Given the description of an element on the screen output the (x, y) to click on. 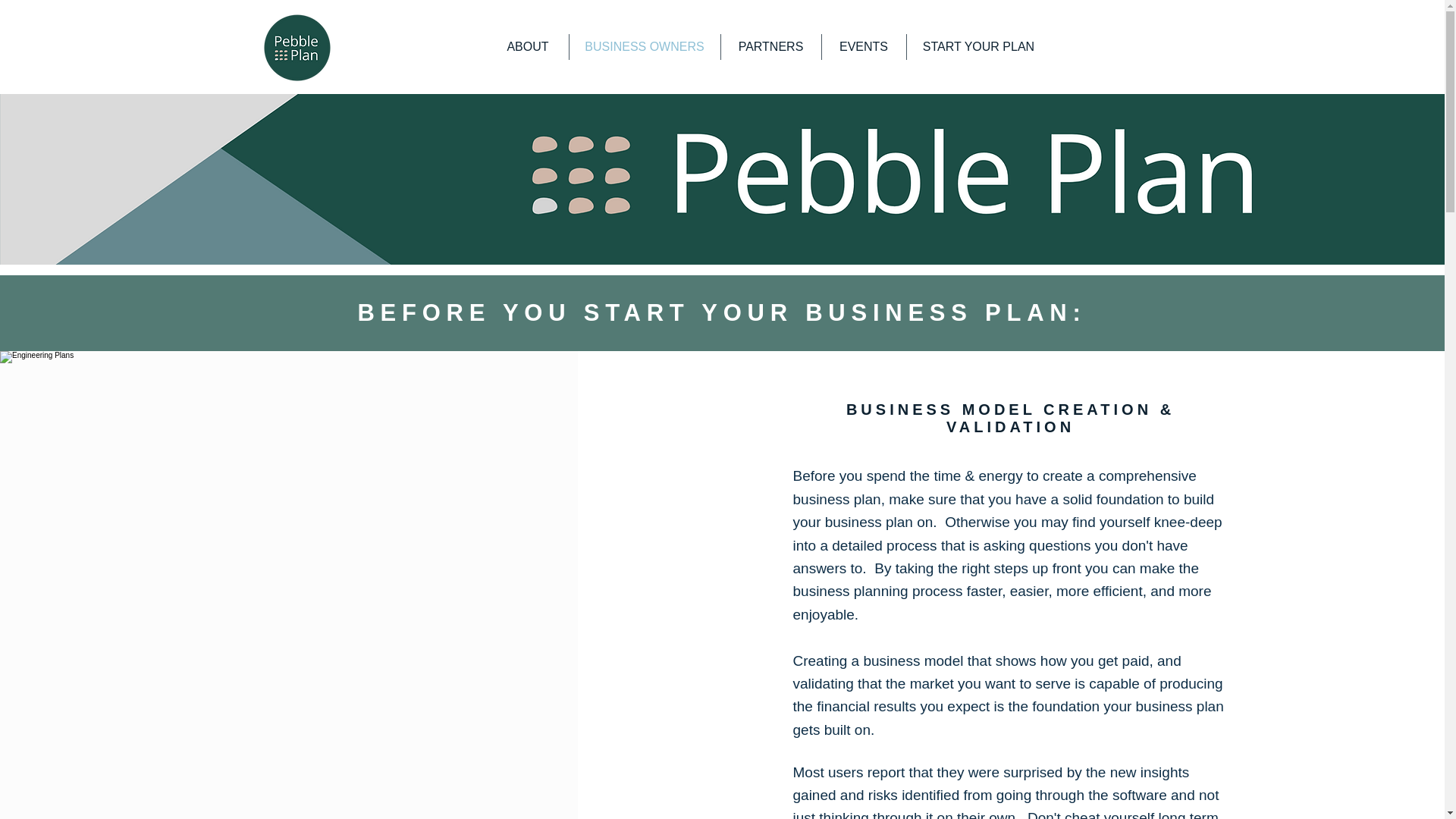
BUSINESS OWNERS (644, 46)
START YOUR PLAN (979, 46)
ABOUT (526, 46)
PARTNERS (770, 46)
